Given the description of an element on the screen output the (x, y) to click on. 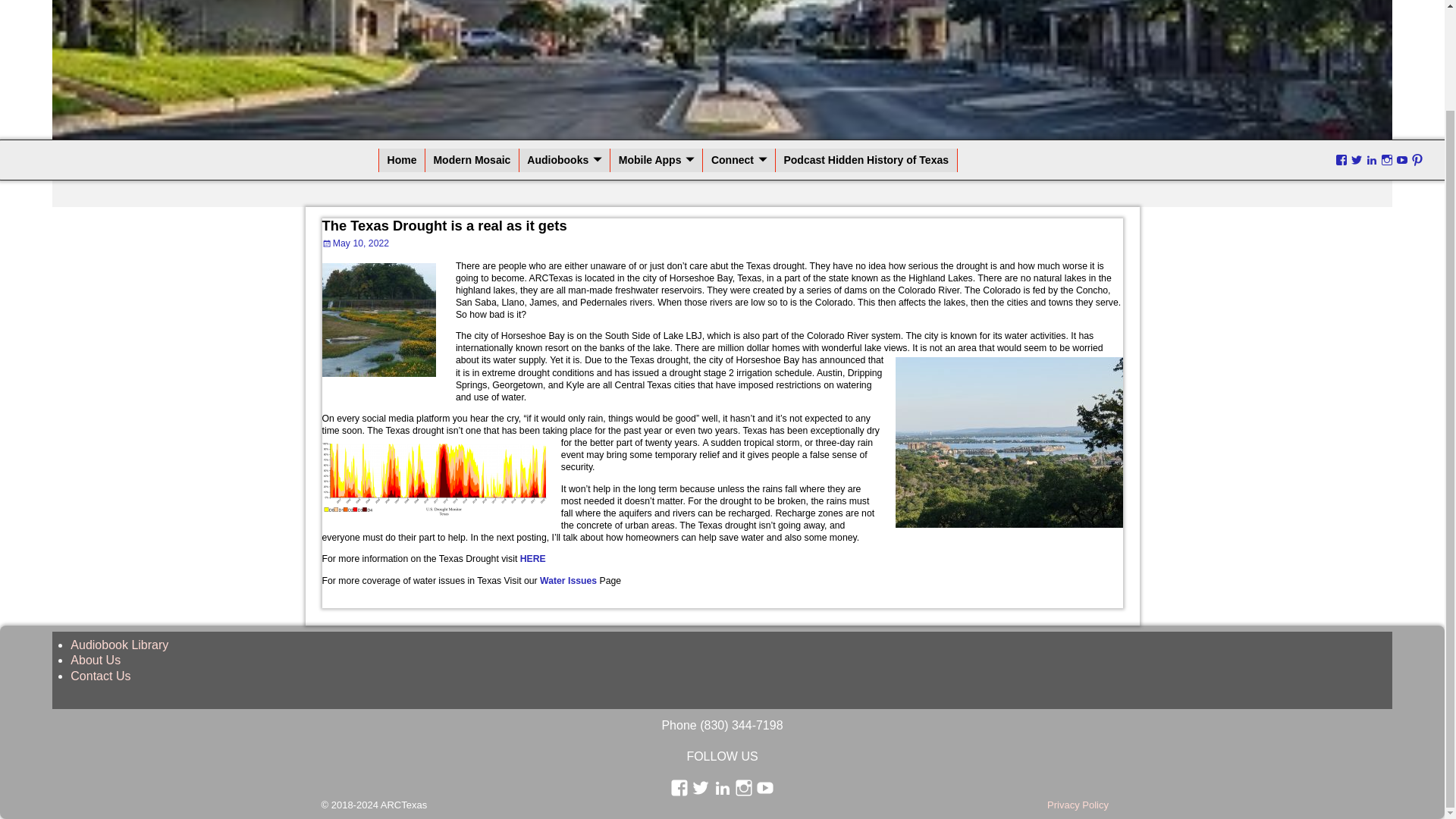
LinkedIn: Professional contact information (721, 787)
Modern Mosaic (472, 159)
YouTube: video sharing (764, 787)
Pintrest: All the things that inspire you. (1416, 160)
Mobile Apps (656, 159)
Twitter (1356, 160)
Home (401, 159)
Contact Us (100, 675)
YouTube: video sharing (1401, 160)
Water Issues (568, 580)
